Given the description of an element on the screen output the (x, y) to click on. 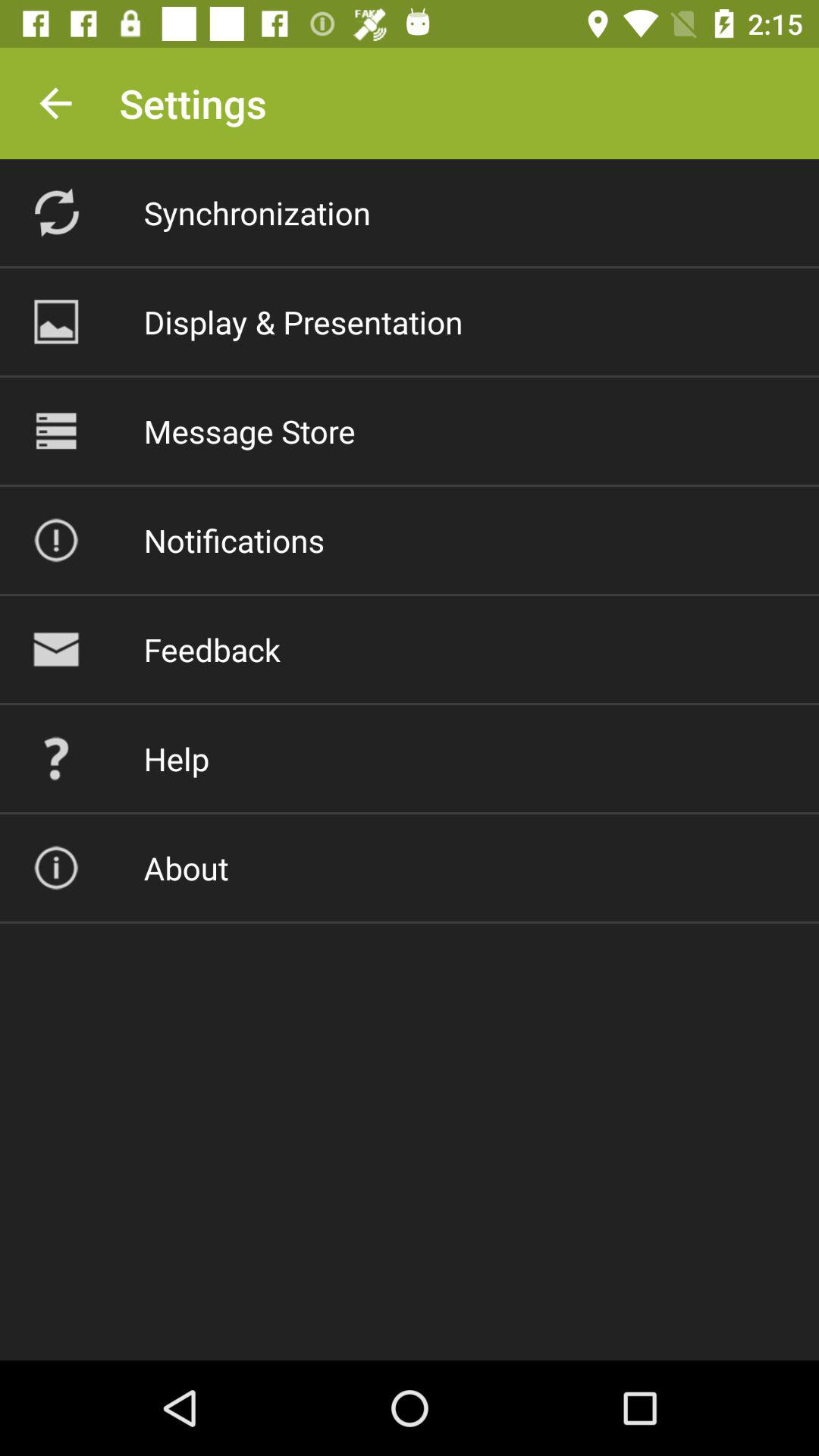
launch the item above help icon (211, 649)
